Given the description of an element on the screen output the (x, y) to click on. 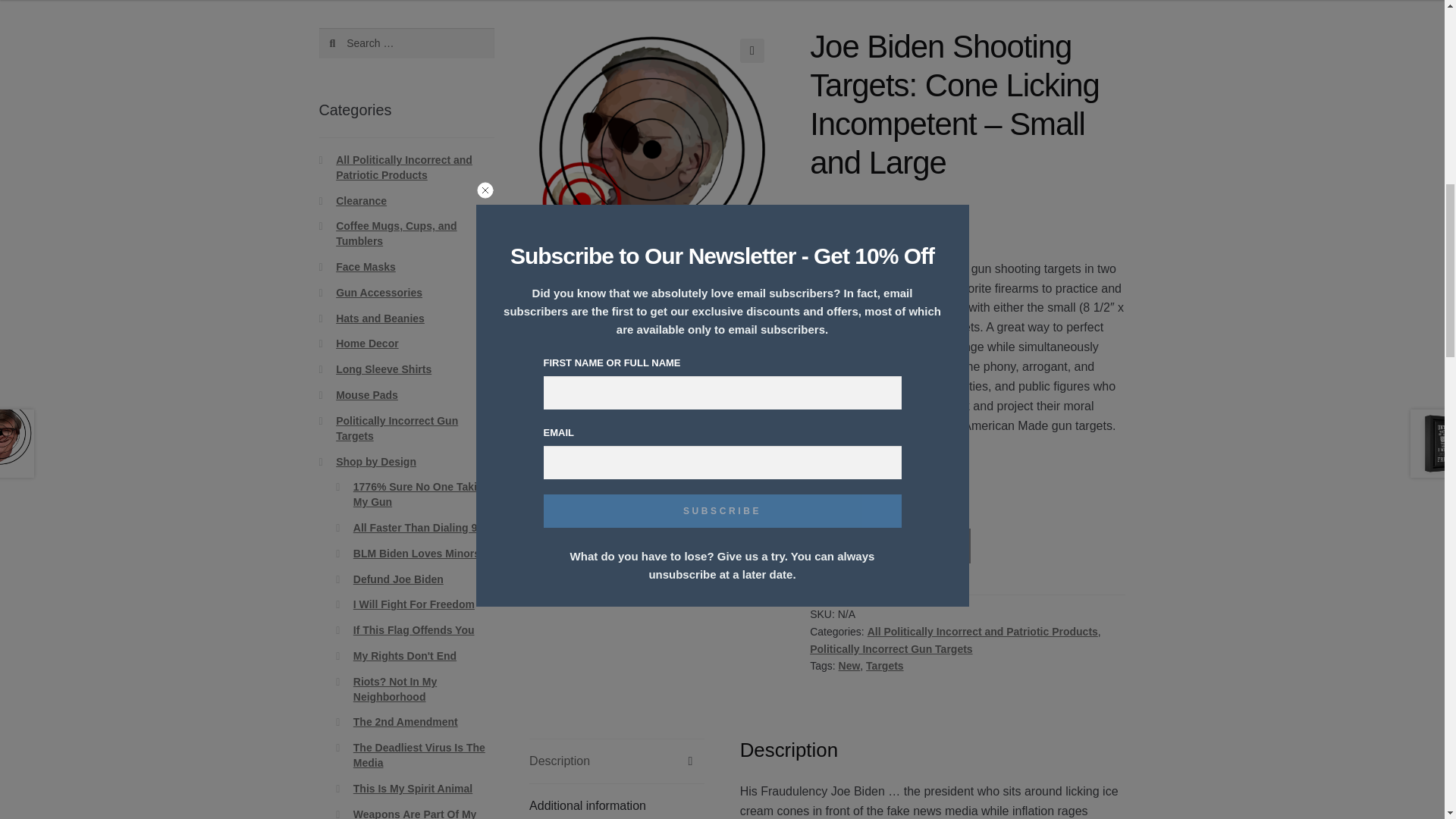
Add to cart (921, 545)
1 (835, 545)
